Given the description of an element on the screen output the (x, y) to click on. 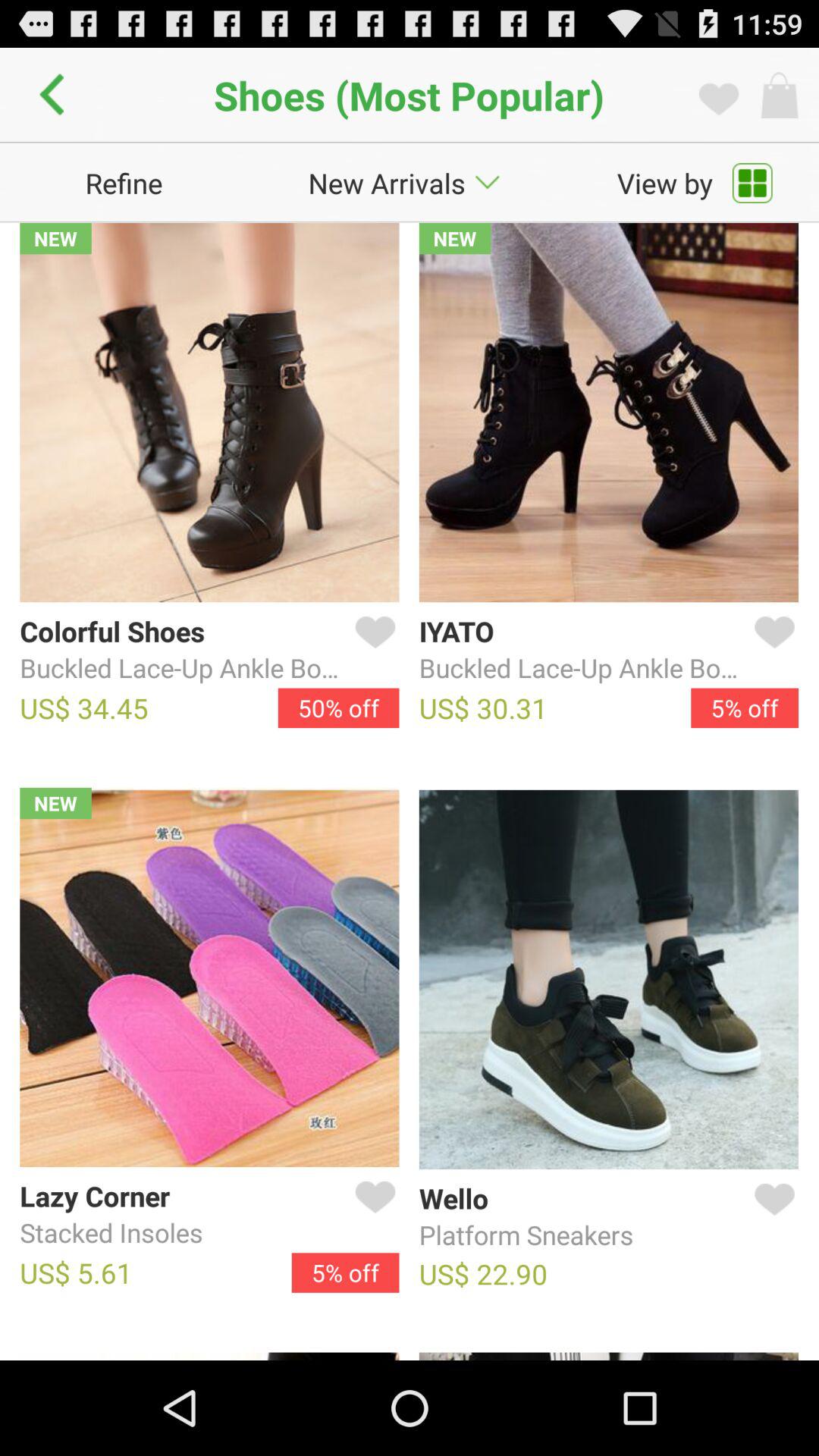
like this (771, 1217)
